Given the description of an element on the screen output the (x, y) to click on. 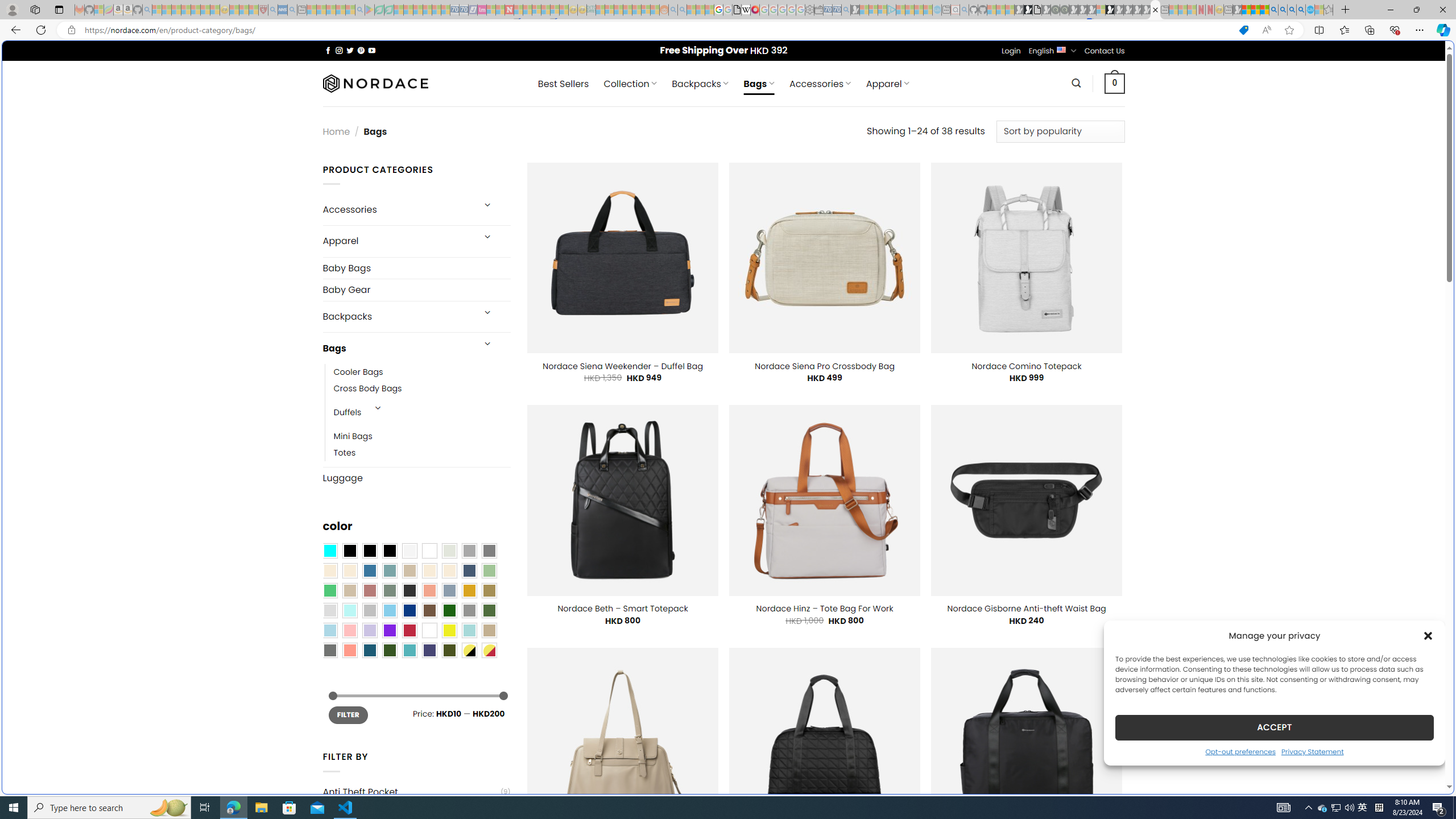
Sign in to your account - Sleeping (1100, 9)
Follow on Instagram (338, 49)
Anti Theft Pocket(9) (416, 791)
Pearly White (408, 550)
Shop order (1060, 131)
  0   (1115, 83)
Duffels (347, 412)
